Given the description of an element on the screen output the (x, y) to click on. 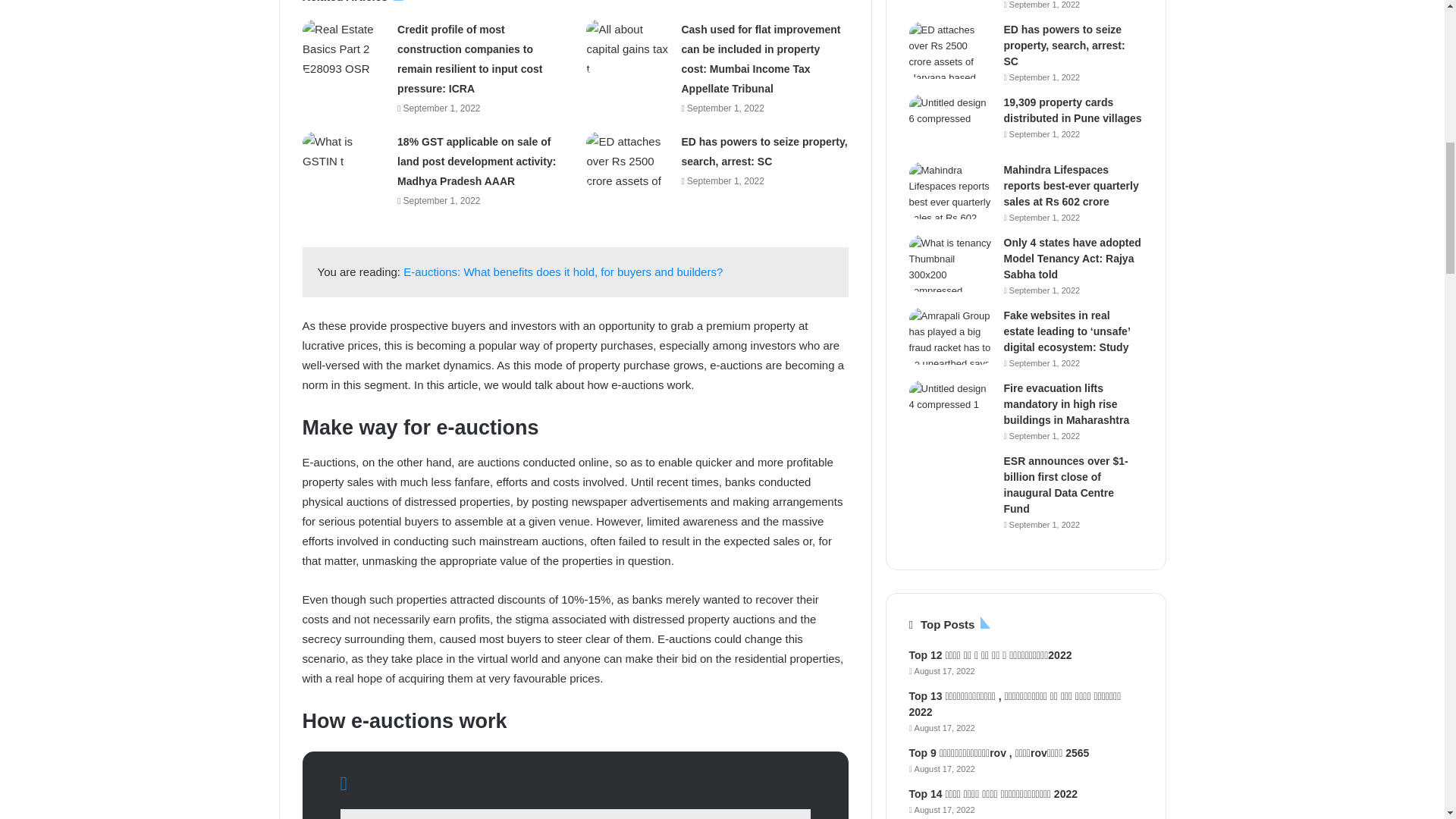
ED has powers to seize property, search, arrest: SC 4 (627, 160)
ED has powers to seize property, search, arrest: SC (764, 151)
